Given the description of an element on the screen output the (x, y) to click on. 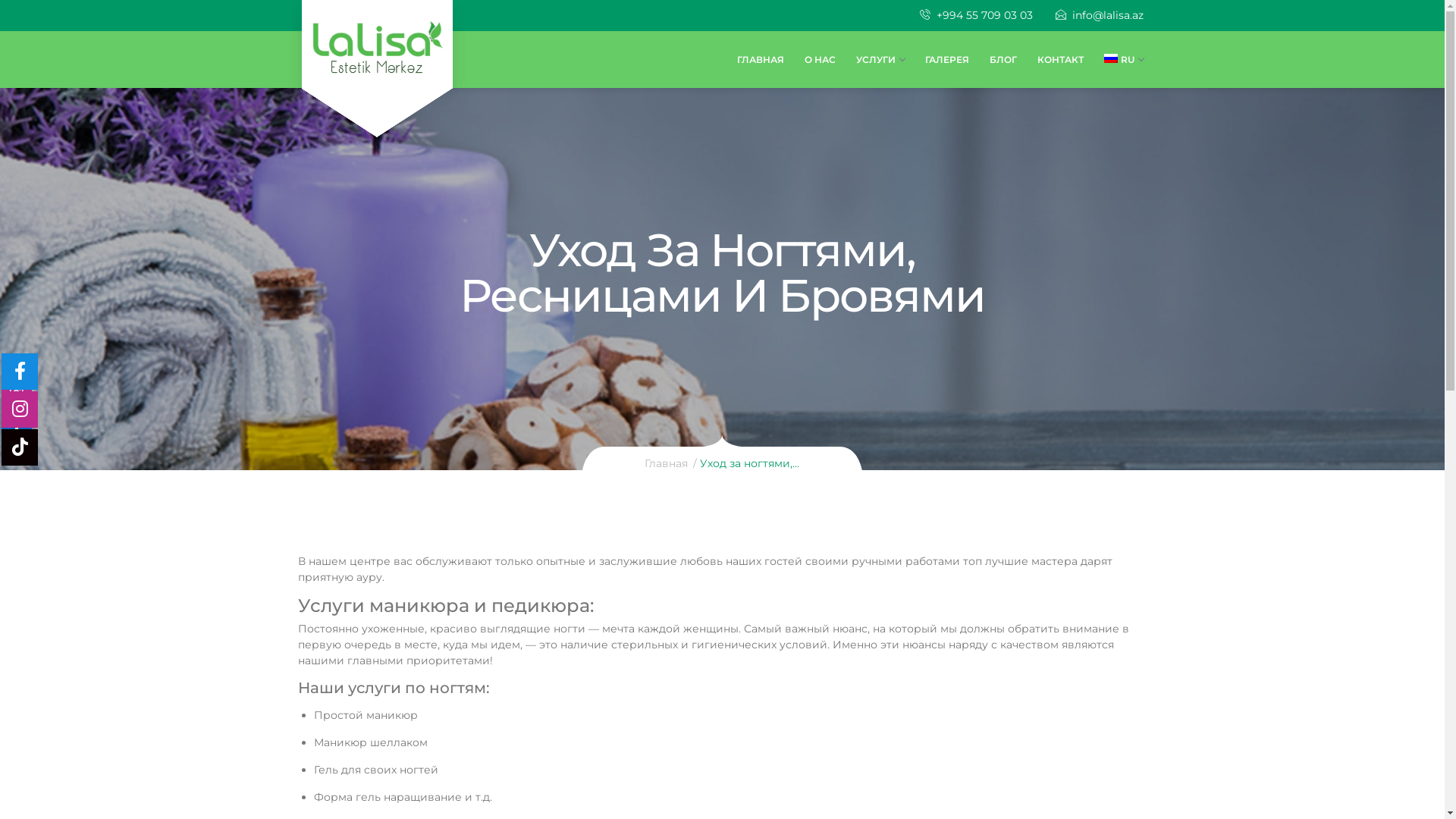
RU Element type: hover (1110, 57)
RU Element type: text (1117, 59)
+994 55 709 03 03 Element type: text (975, 14)
info@lalisa.az Element type: text (1099, 14)
